Given the description of an element on the screen output the (x, y) to click on. 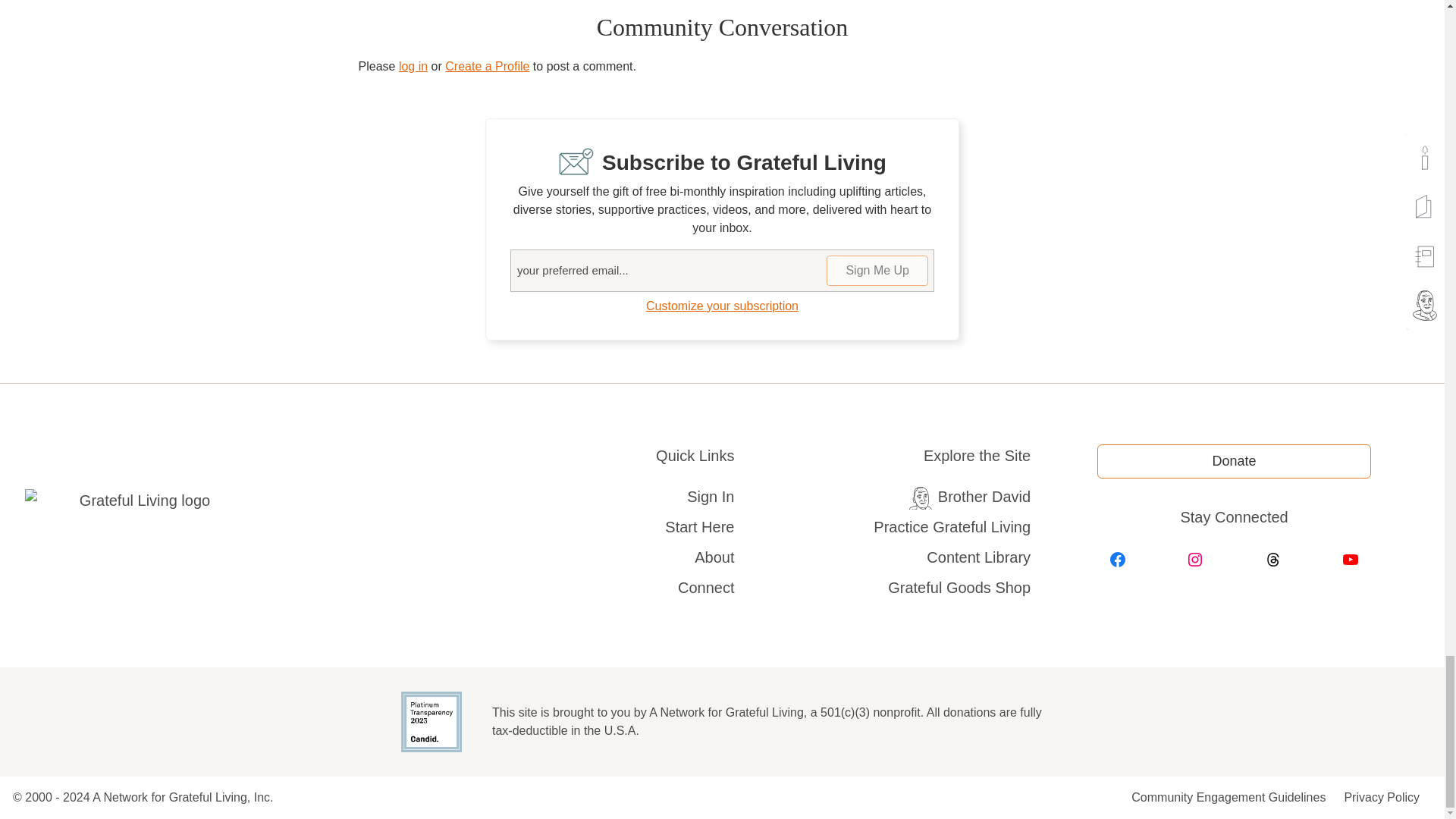
Create a Profile (487, 65)
log in (413, 65)
Sign Me Up (877, 270)
Sign Me Up (877, 270)
